Given the description of an element on the screen output the (x, y) to click on. 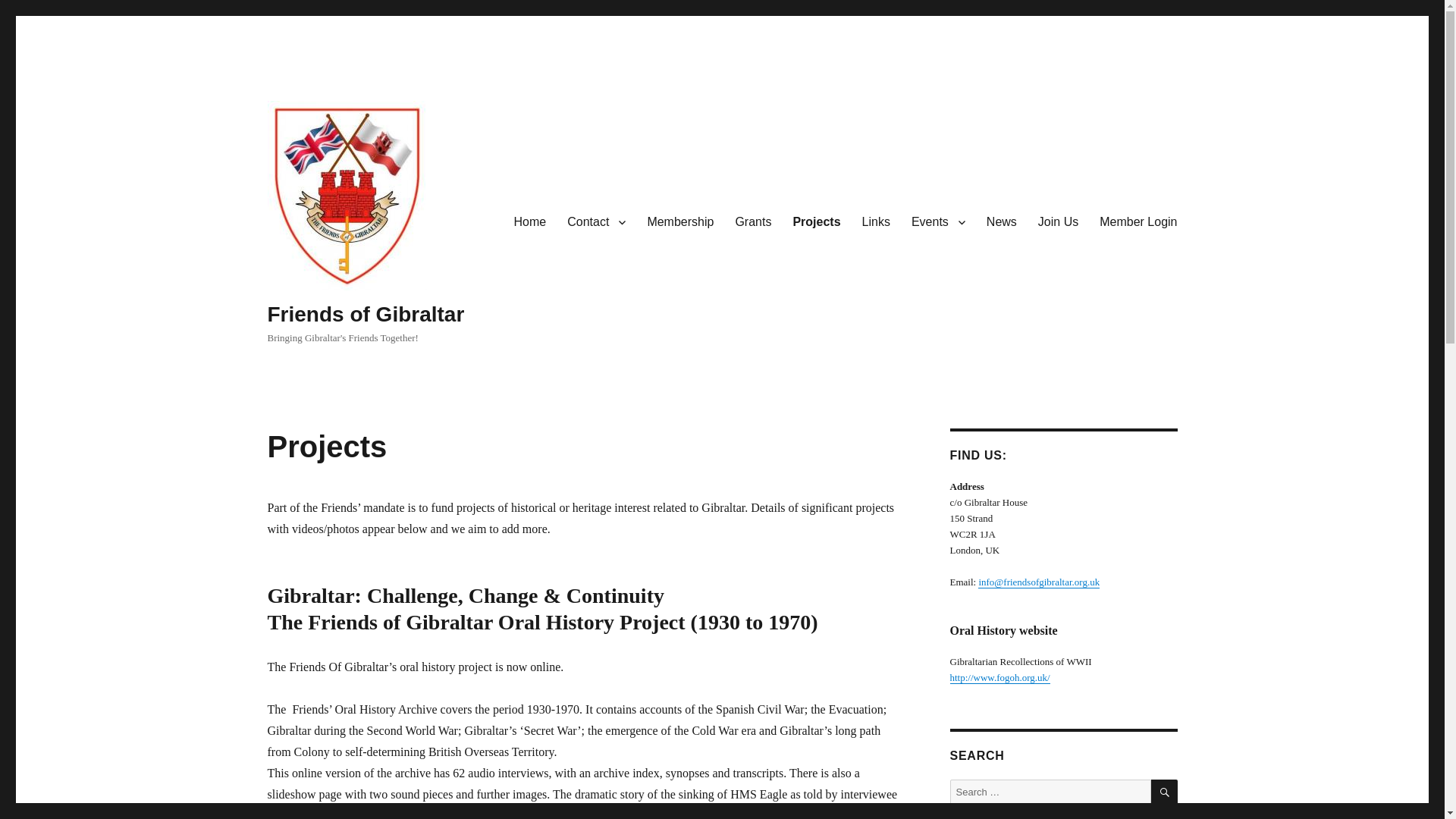
Contact (596, 222)
Events (938, 222)
Grants (752, 222)
Home (530, 222)
Join Us (1058, 222)
Membership (679, 222)
SEARCH (1164, 792)
Links (876, 222)
News (1001, 222)
Member Login (1138, 222)
Projects (815, 222)
Friends of Gibraltar (365, 313)
